Given the description of an element on the screen output the (x, y) to click on. 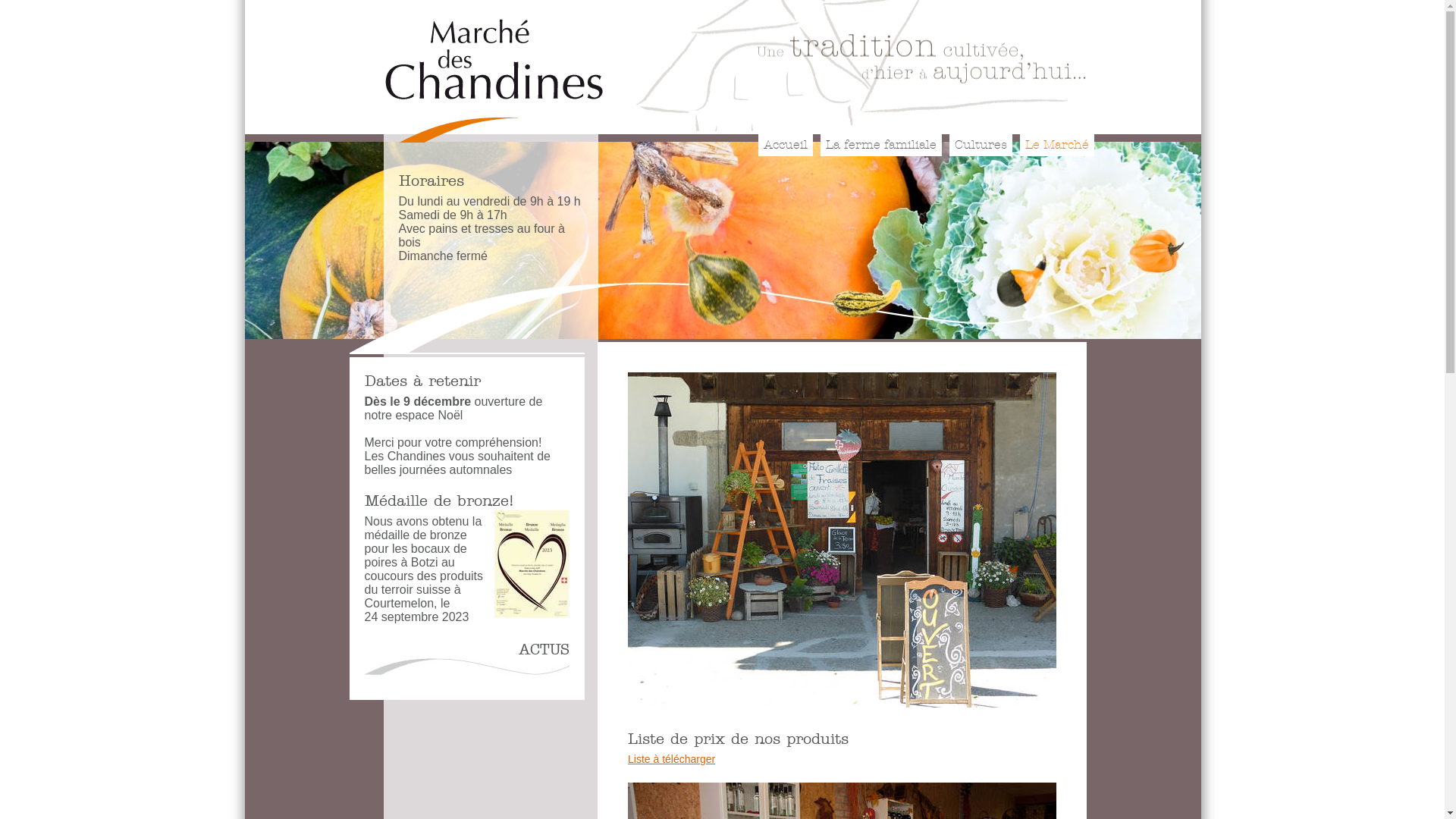
La ferme familiale Element type: text (880, 145)
Accueil Element type: text (784, 145)
Cultures Element type: text (979, 145)
